Given the description of an element on the screen output the (x, y) to click on. 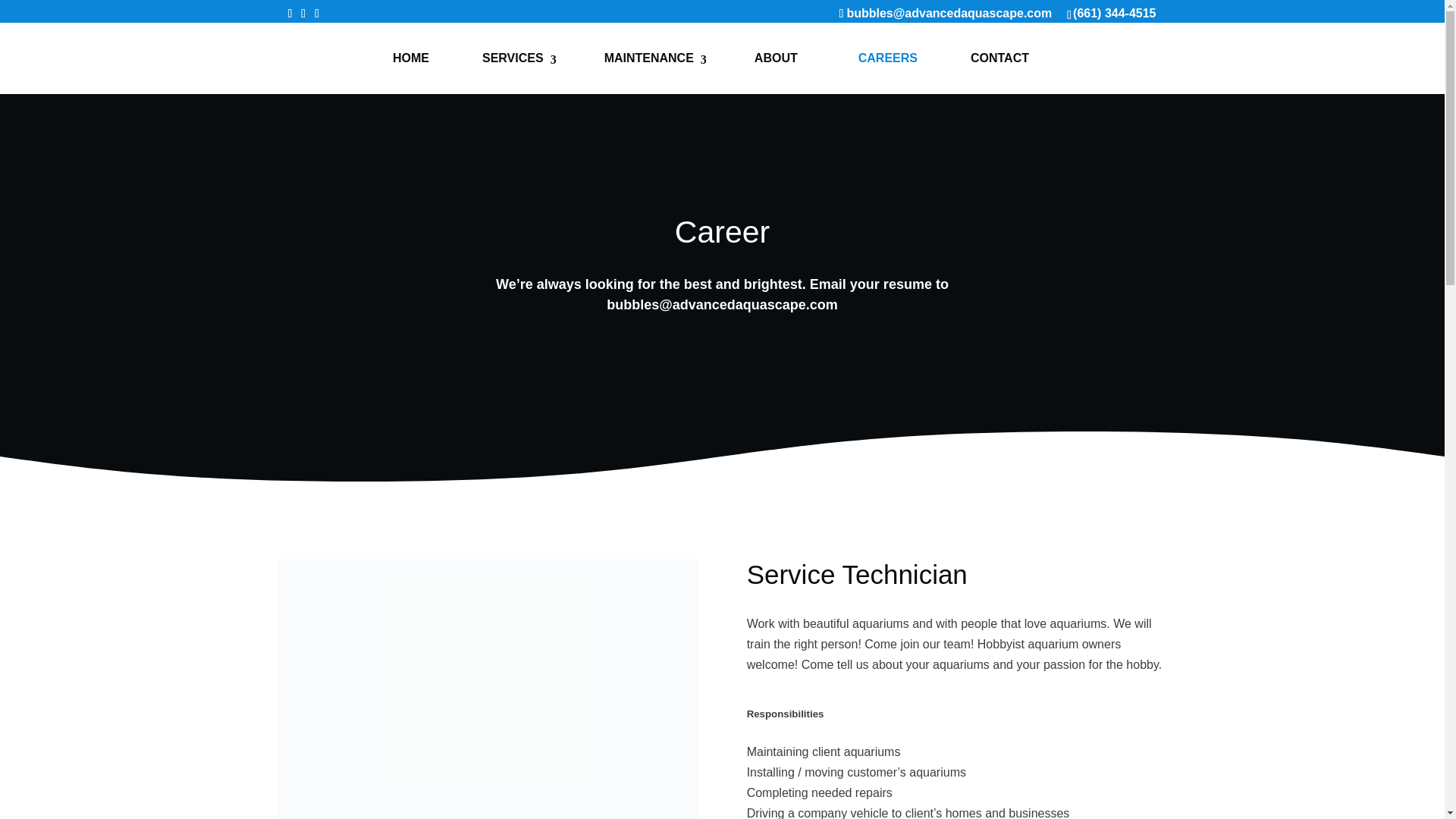
CAREERS (888, 58)
ABOUT (775, 58)
MAINTENANCE (649, 58)
CONTACT (1003, 58)
aquarium-maintenance-header-bg (488, 688)
SERVICES (516, 58)
HOME (411, 58)
